Given the description of an element on the screen output the (x, y) to click on. 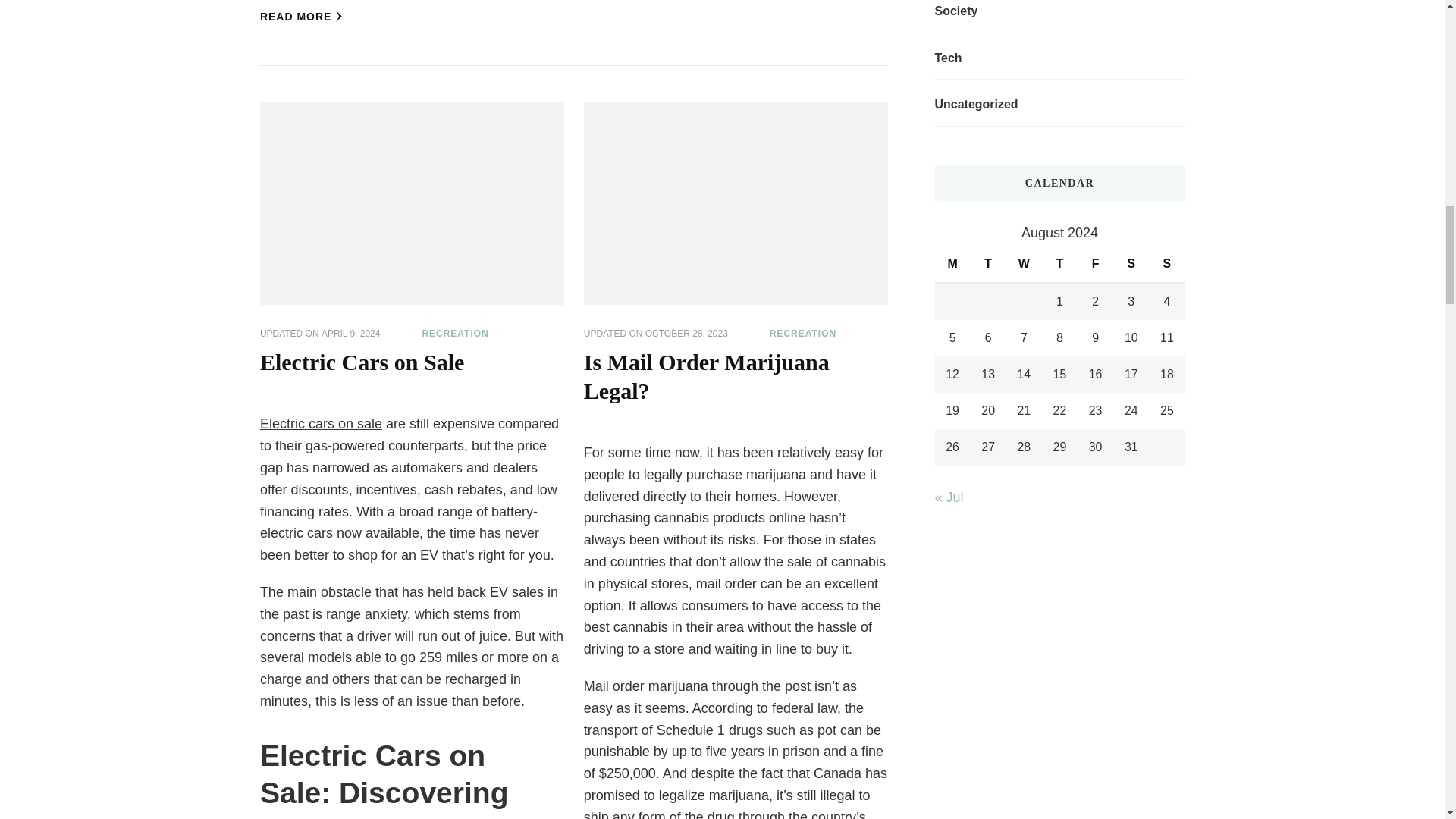
Monday (951, 263)
Sunday (1166, 263)
Electric Cars on Sale (362, 362)
Tuesday (988, 263)
Friday (1095, 263)
READ MORE (301, 16)
OCTOBER 28, 2023 (686, 334)
Electric cars on sale (320, 423)
APRIL 9, 2024 (350, 334)
Thursday (1059, 263)
Mail order marijuana (645, 685)
Wednesday (1024, 263)
RECREATION (454, 334)
Saturday (1130, 263)
RECREATION (802, 334)
